Given the description of an element on the screen output the (x, y) to click on. 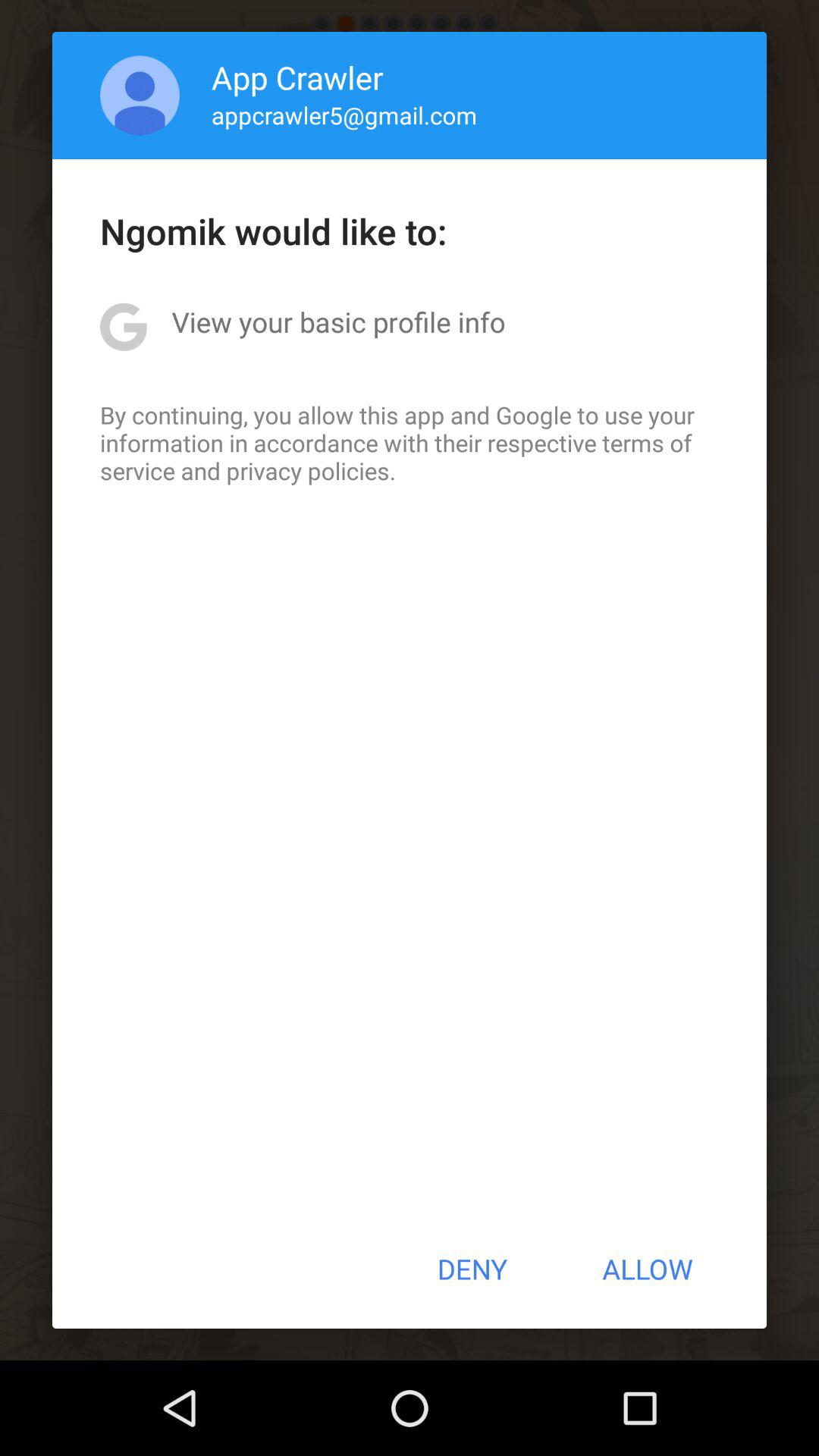
open app to the left of app crawler icon (139, 95)
